Given the description of an element on the screen output the (x, y) to click on. 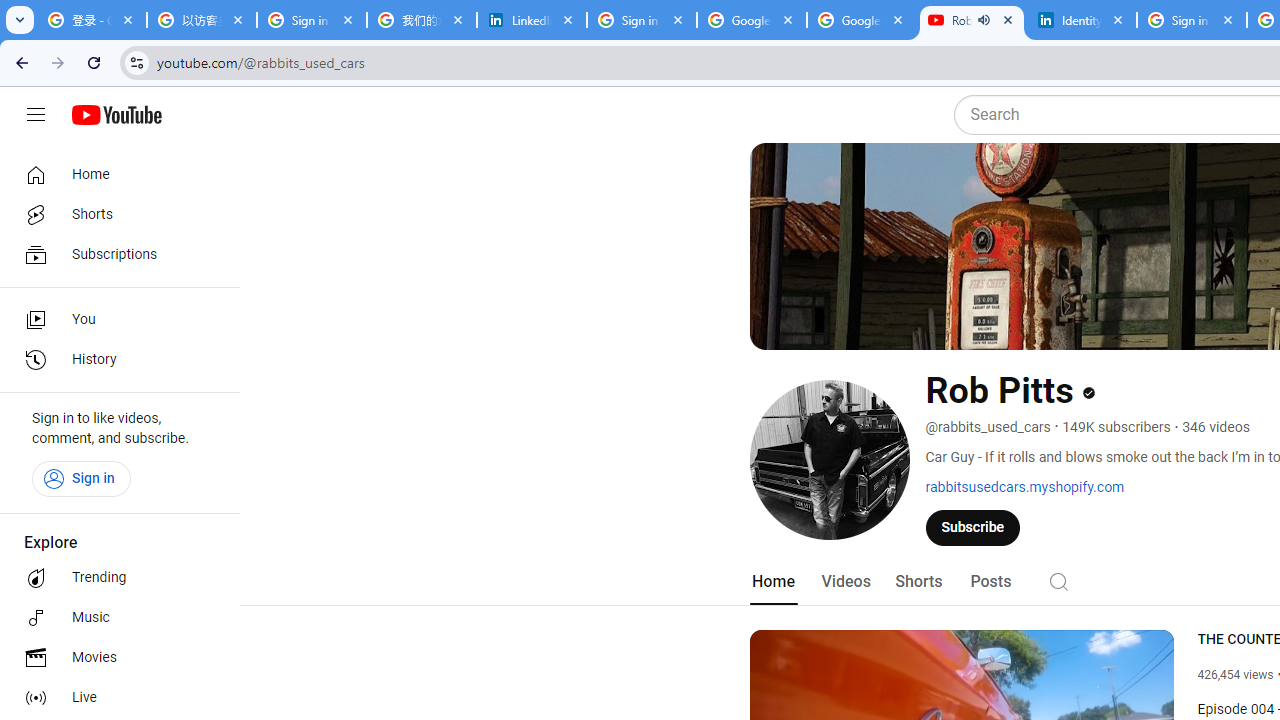
Subscriptions (113, 254)
Sign in - Google Accounts (1191, 20)
Home (772, 581)
Live (113, 697)
LinkedIn Privacy Policy (532, 20)
Subscribe (973, 527)
